Given the description of an element on the screen output the (x, y) to click on. 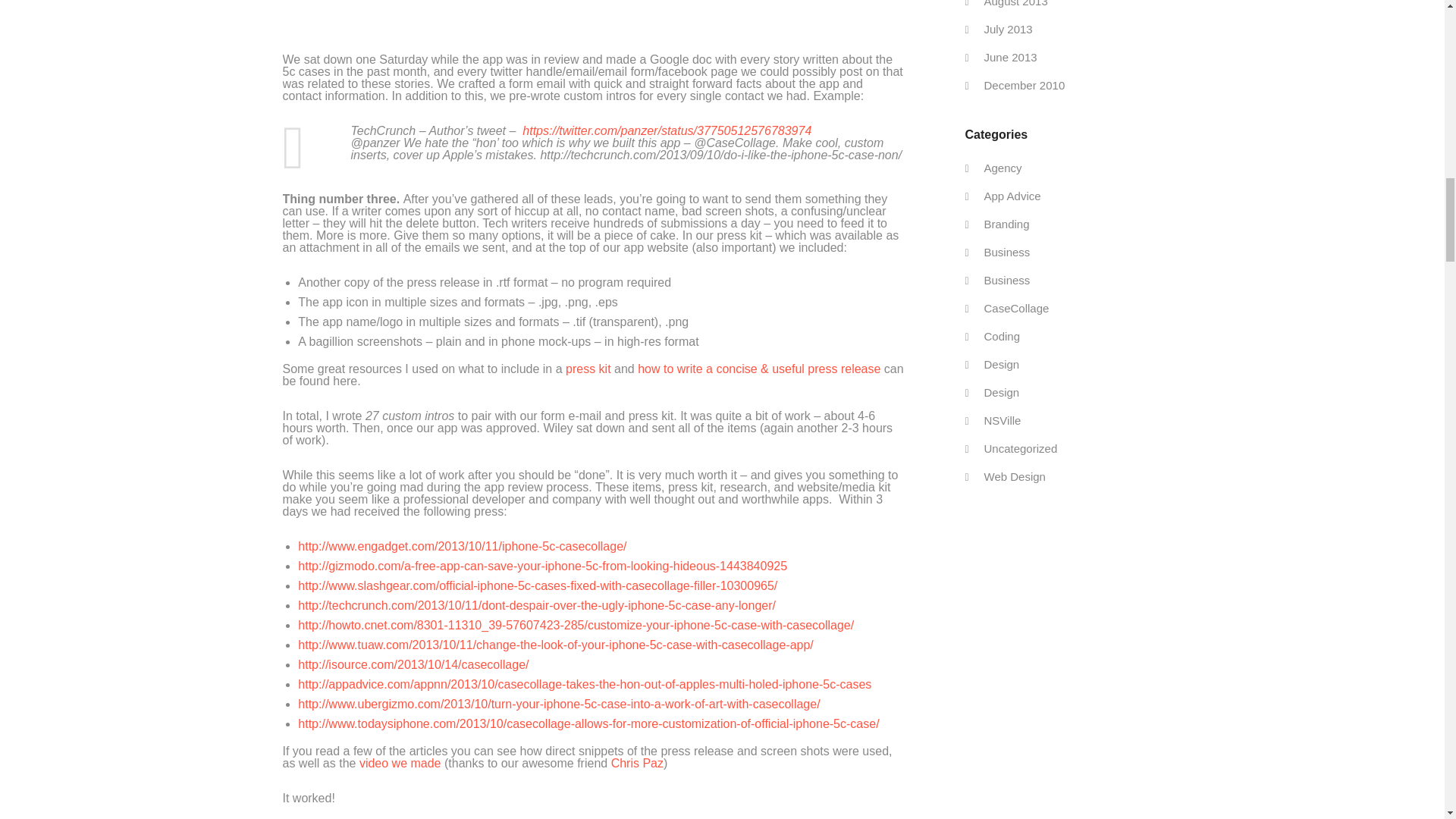
press kit (588, 368)
